Given the description of an element on the screen output the (x, y) to click on. 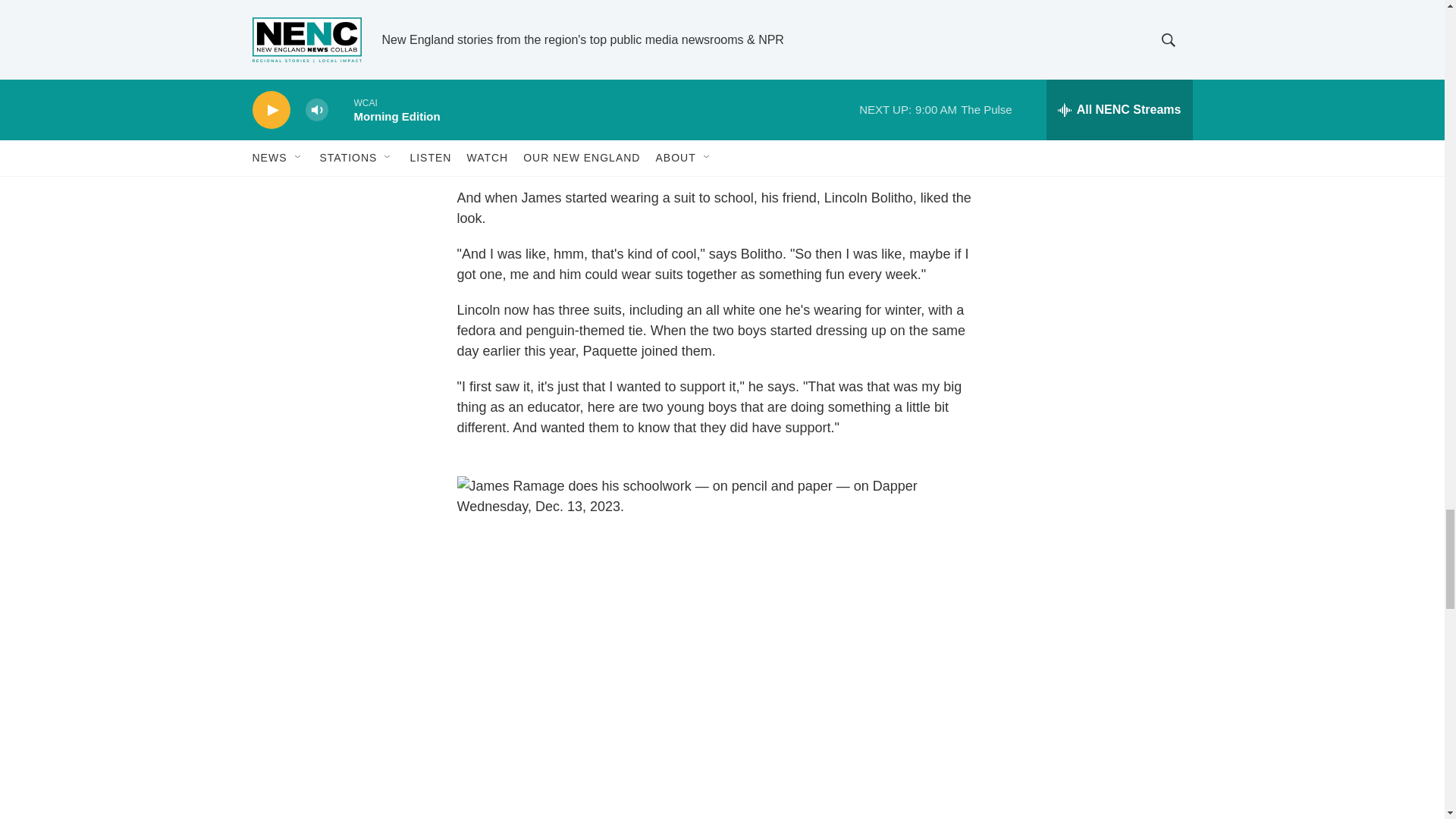
goodnews (1062, 87)
dapper (951, 108)
maine (1002, 87)
fancy (1121, 87)
